Given the description of an element on the screen output the (x, y) to click on. 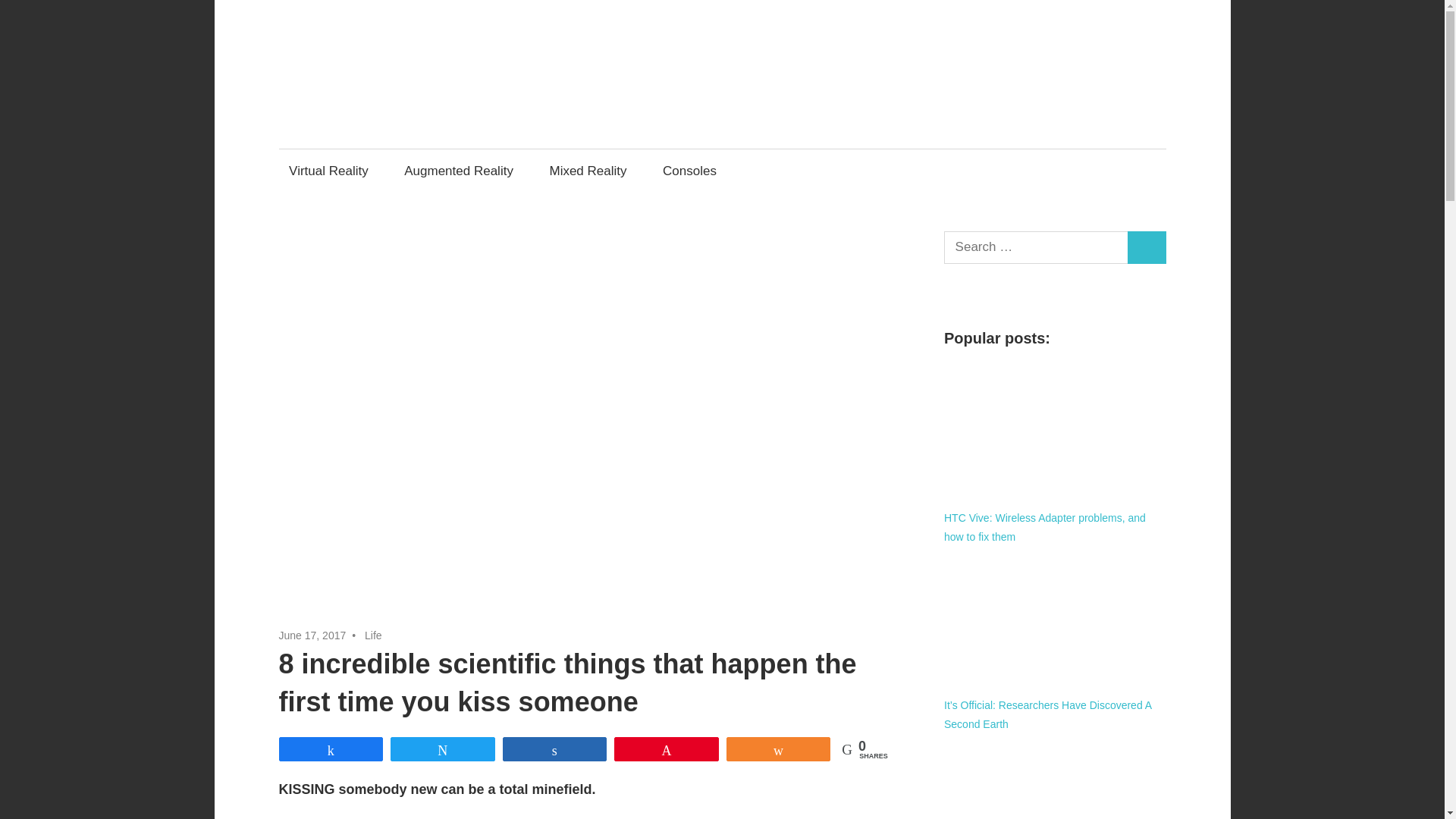
HTC Vive: Wireless Adapter problems, and how to fix them (1044, 526)
Search (1146, 246)
Virtual Reality (328, 170)
Consoles (693, 170)
HTC Vive: Wireless Adapter problems, and how to fix them (1054, 431)
Life (373, 635)
June 17, 2017 (312, 635)
Augmented Reality (459, 170)
18:25 (312, 635)
Search for: (1035, 246)
Mixed Reality (587, 170)
